Given the description of an element on the screen output the (x, y) to click on. 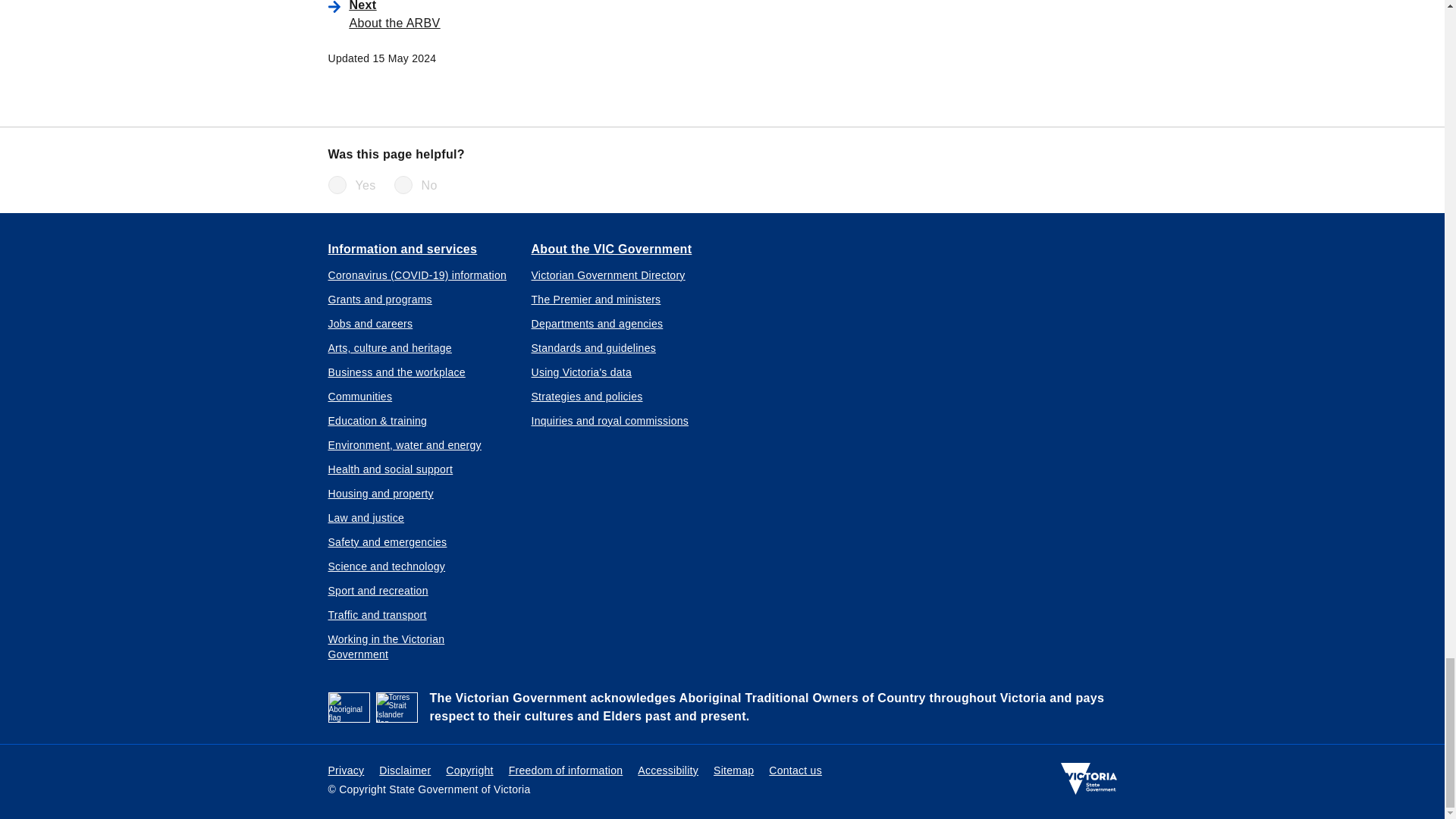
Jobs and careers (369, 323)
Arts, culture and heritage (389, 347)
Environment, water and energy (403, 444)
Law and justice (365, 517)
Communities (359, 396)
Business and the workplace (395, 372)
Housing and property (379, 493)
Grants and programs (378, 299)
Health and social support (389, 468)
NextAbout the ARBV (563, 14)
